Given the description of an element on the screen output the (x, y) to click on. 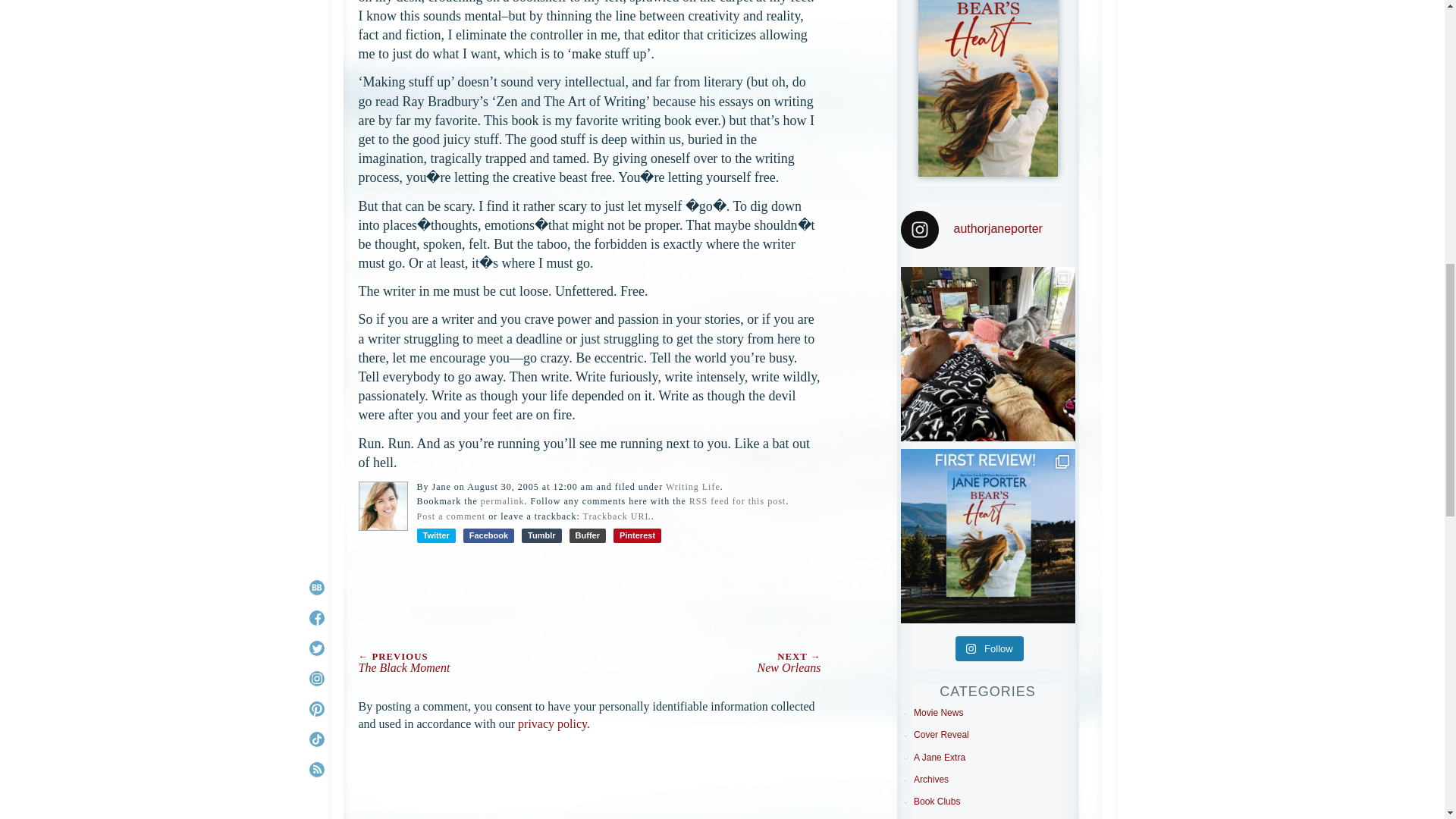
Writing Life (692, 486)
Facebook (488, 535)
Twitter (435, 535)
Post a comment (451, 516)
permalink (502, 501)
Trackback URL (616, 516)
RSS feed for this post (737, 501)
